Given the description of an element on the screen output the (x, y) to click on. 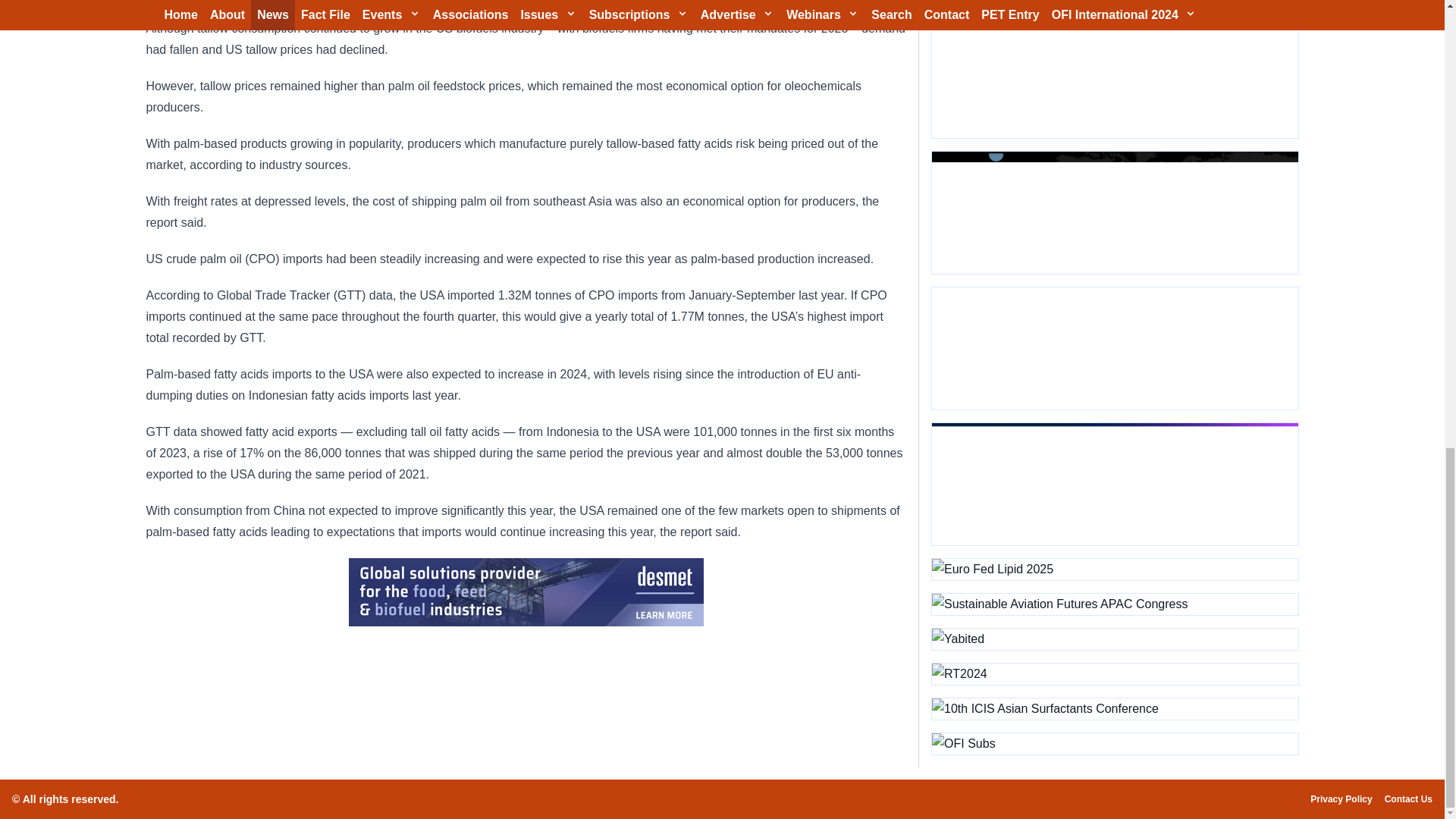
Euro Fed Lipid 2025 (1114, 568)
ICIS Pan American Oleochemicals Conference (1114, 484)
Yabited (1114, 639)
RT2024 (1114, 673)
OFI Subs (1114, 743)
Sustainable Aviation Futures APAC Congress (1114, 604)
Globoil 2024 (1114, 77)
2nd Berlin Symposium 2024 (1114, 348)
Sustainable Aviation Futures North America Congress (1114, 212)
Desmet 2022-4 footer banner (525, 591)
10th ICIS Asian Surfactants Conference (1114, 708)
